Given the description of an element on the screen output the (x, y) to click on. 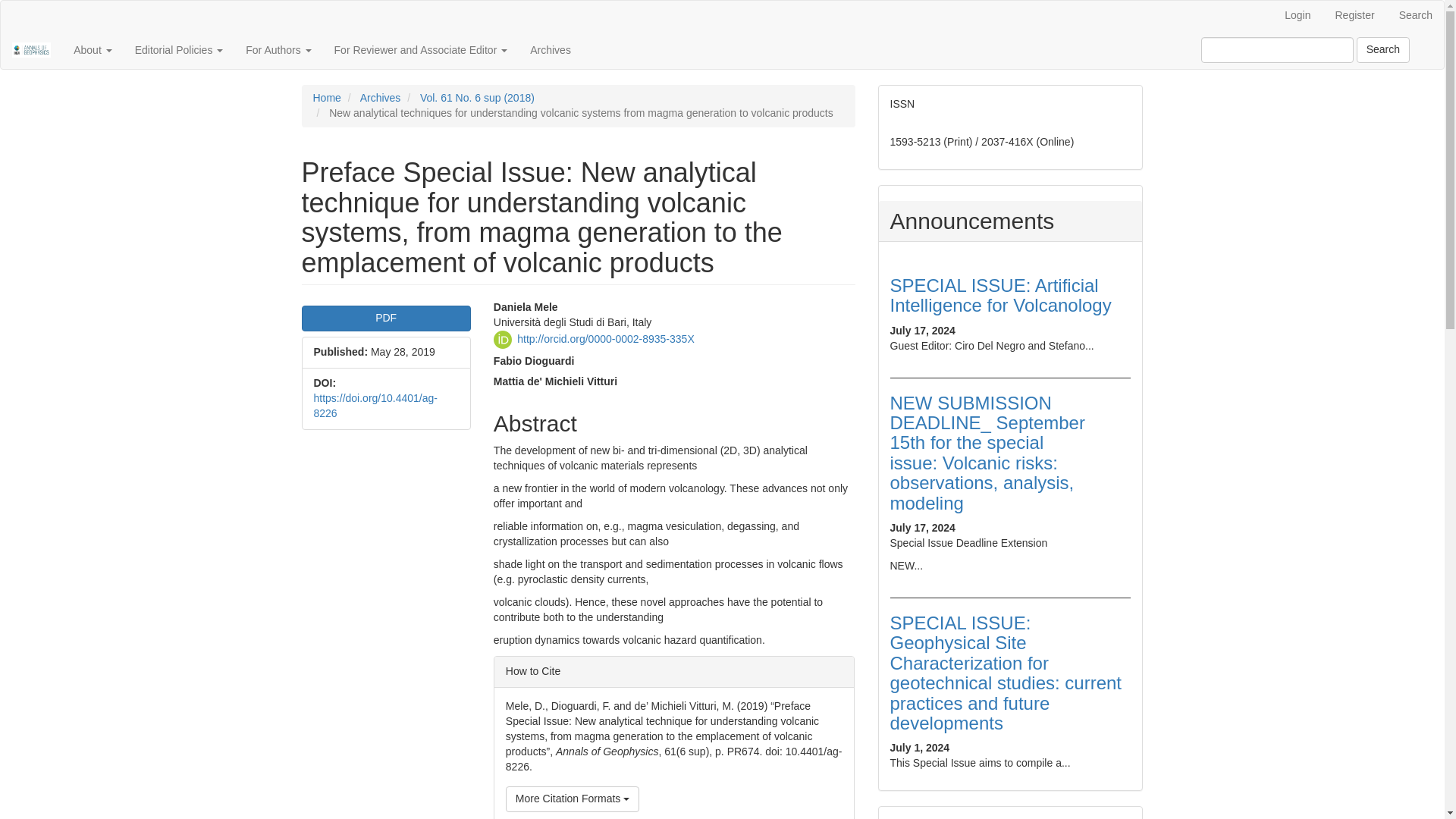
Login (1297, 15)
Search (1382, 49)
Home (326, 97)
Archives (550, 49)
PDF (385, 318)
For Reviewer and Associate Editor (421, 49)
Search (1415, 15)
Archives (380, 97)
Register (1354, 15)
Editorial Policies (178, 49)
